Given the description of an element on the screen output the (x, y) to click on. 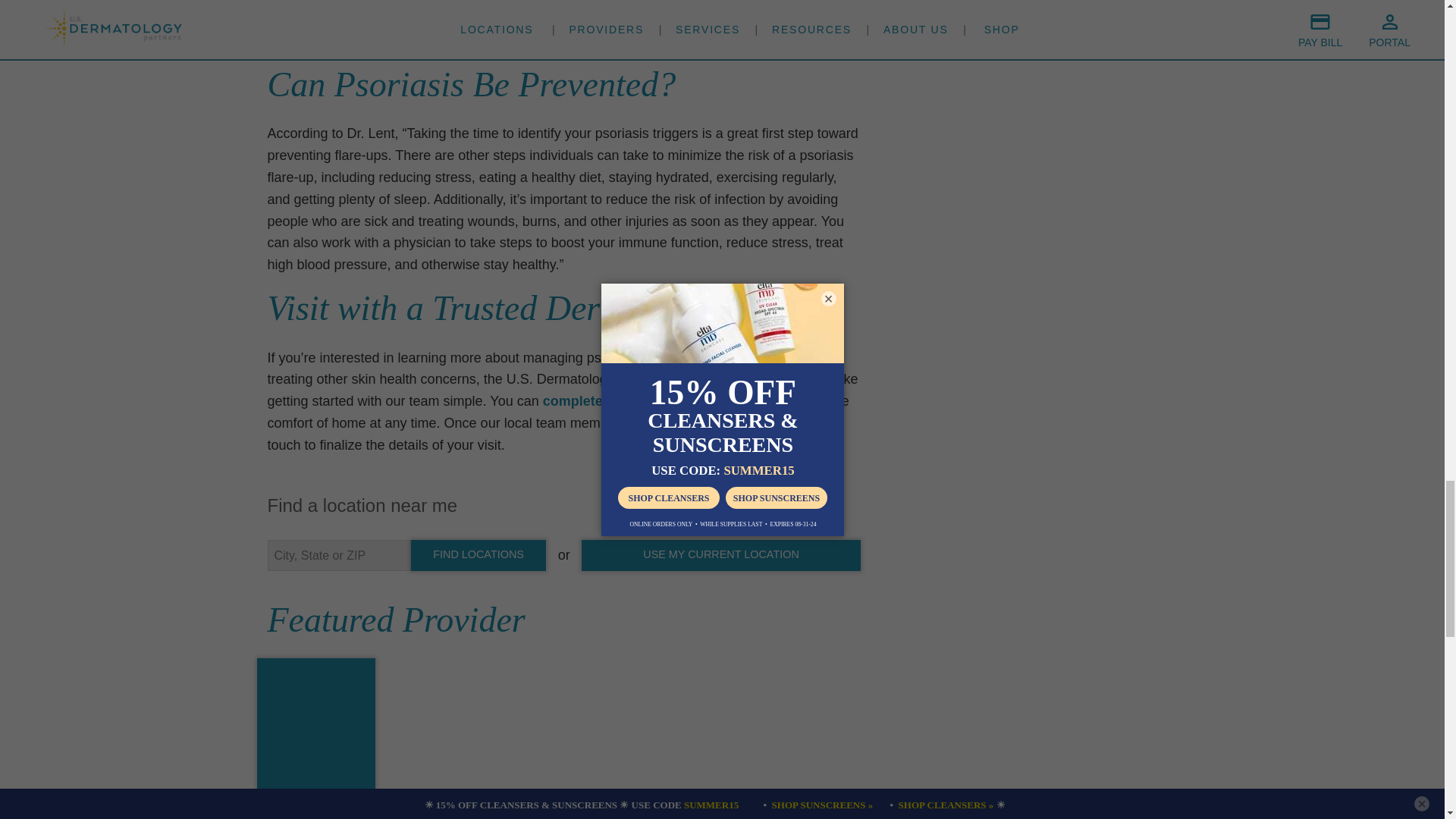
Megan Lent, MD, FAAD (316, 798)
City, State or ZIP (338, 554)
City, State or ZIP (338, 554)
